Given the description of an element on the screen output the (x, y) to click on. 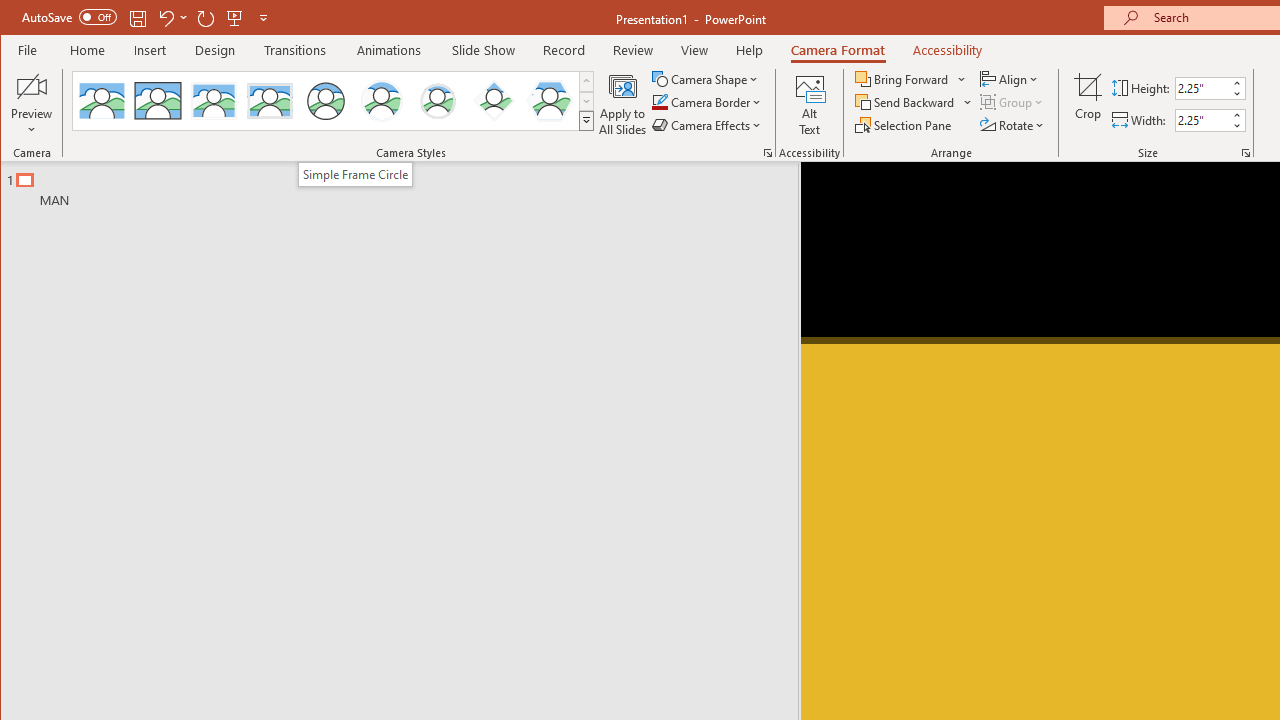
Crop (1087, 104)
